Given the description of an element on the screen output the (x, y) to click on. 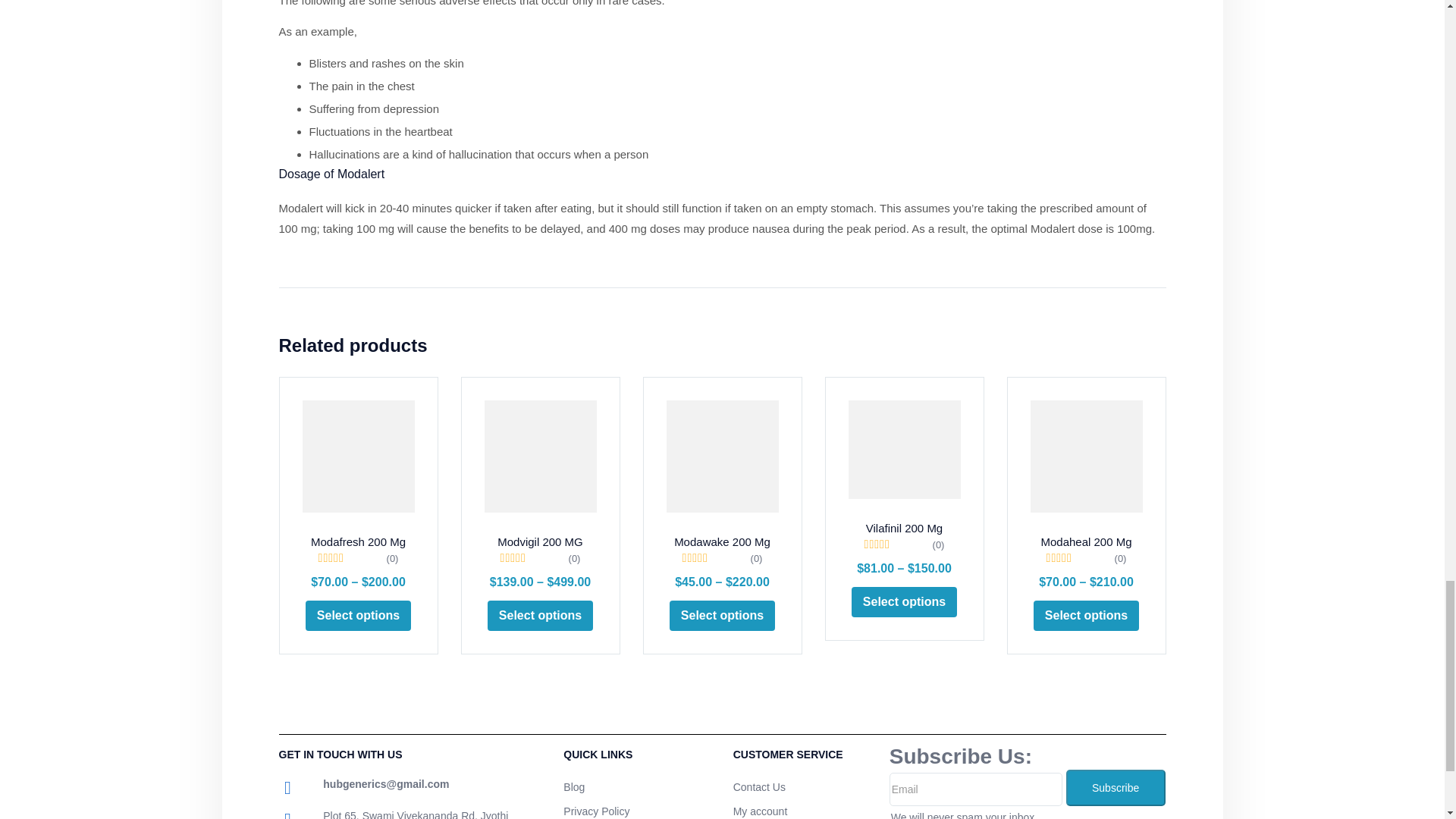
Select options (357, 615)
Select options (539, 615)
Modvigil 200 MG (539, 456)
Modafresh 200 Mg (357, 456)
